Given the description of an element on the screen output the (x, y) to click on. 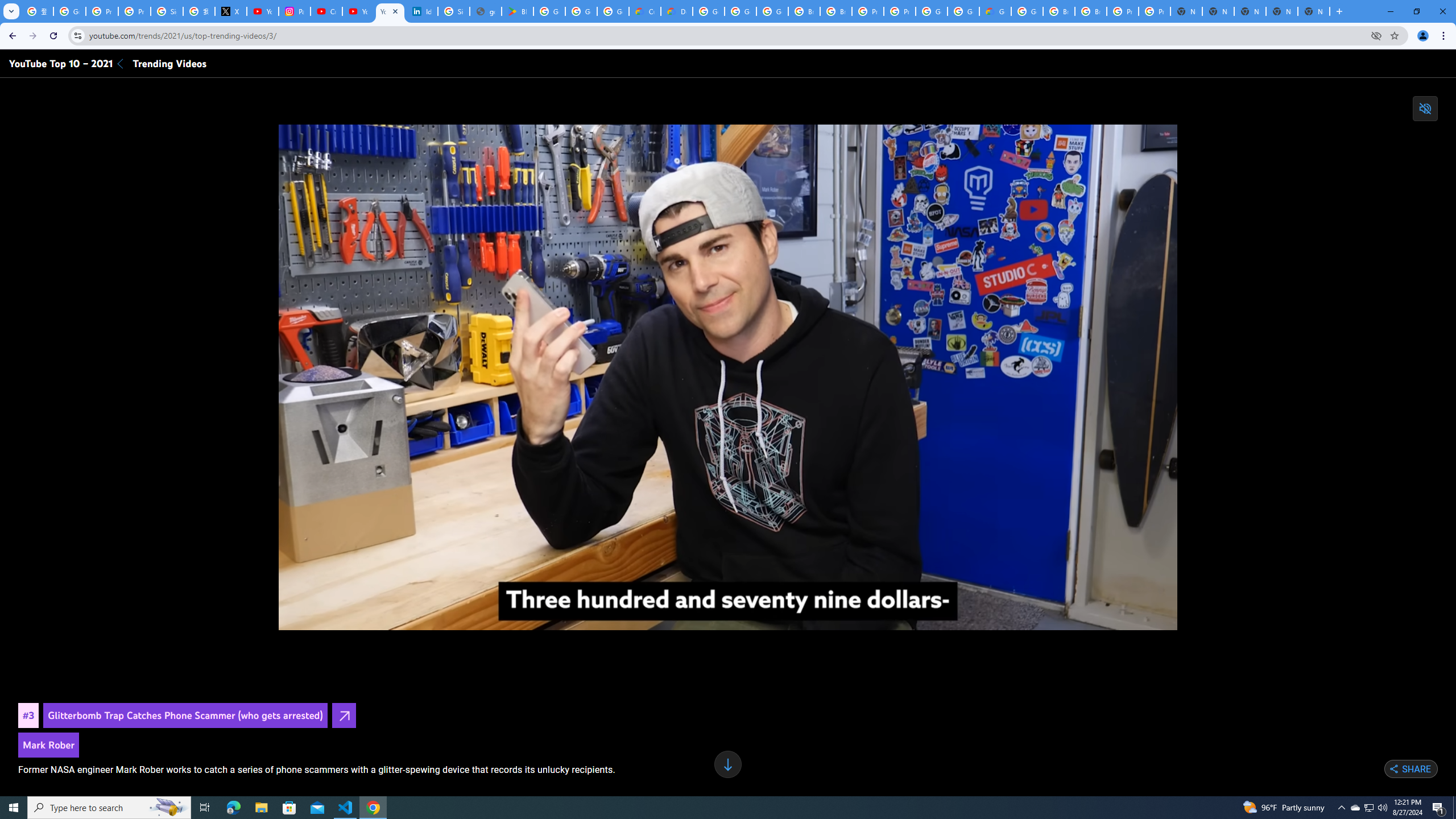
Privacy Help Center - Policies Help (101, 11)
Share (1410, 769)
New Tab (1313, 11)
